Given the description of an element on the screen output the (x, y) to click on. 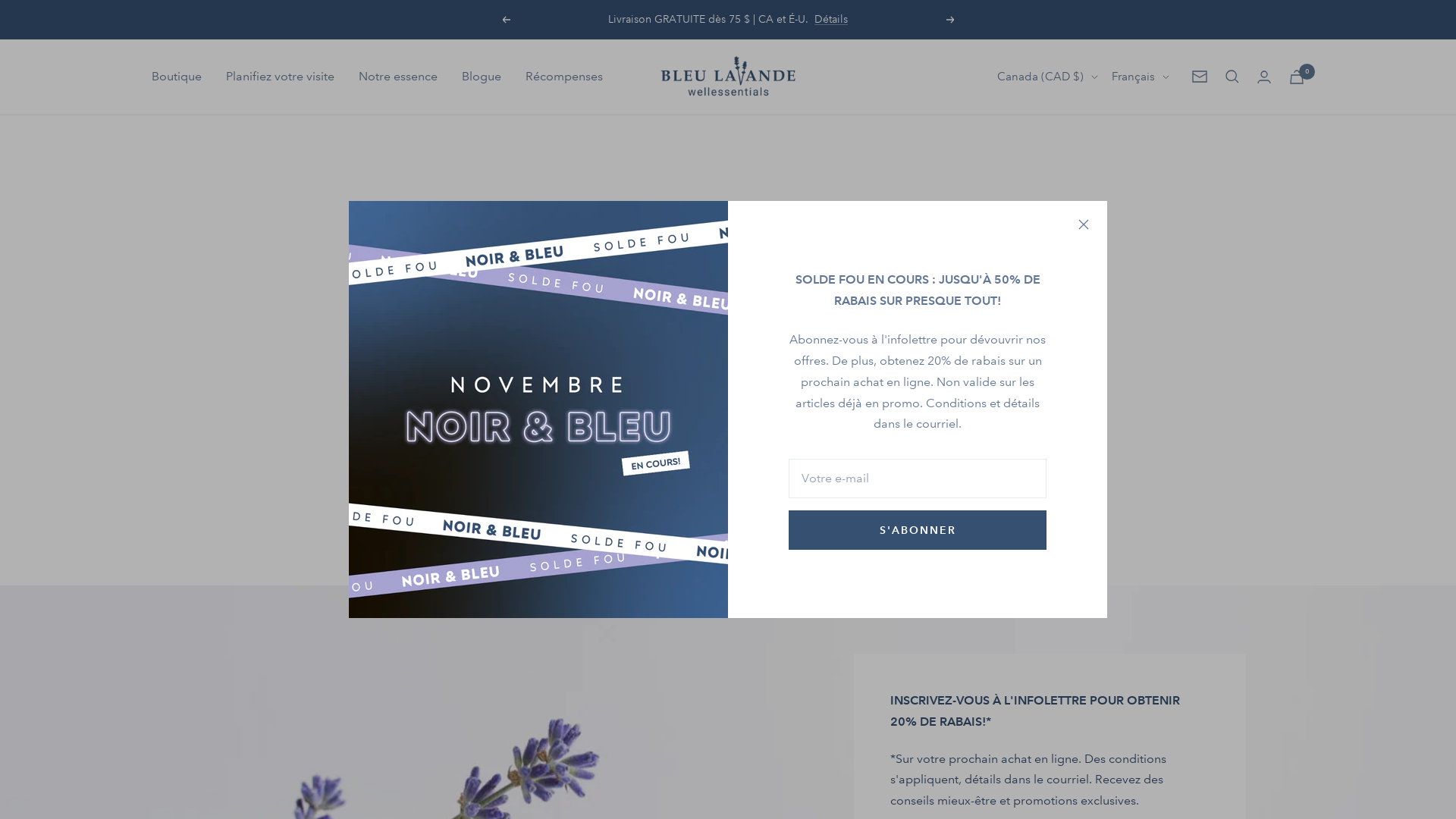
en Element type: text (1133, 156)
CA Element type: text (1036, 130)
Fermer Element type: hover (1083, 224)
Notre essence Element type: text (397, 76)
Bleu Lavande Element type: text (727, 76)
Canada (CAD $) Element type: text (1047, 77)
S'ABONNER Element type: text (917, 529)
fr Element type: text (1133, 130)
Boutique Element type: text (176, 76)
Blogue Element type: text (481, 76)
Suivant Element type: text (950, 19)
0 Element type: text (1296, 76)
US Element type: text (1036, 156)
Planifiez votre visite Element type: text (279, 76)
Newsletter Element type: text (1199, 76)
